Given the description of an element on the screen output the (x, y) to click on. 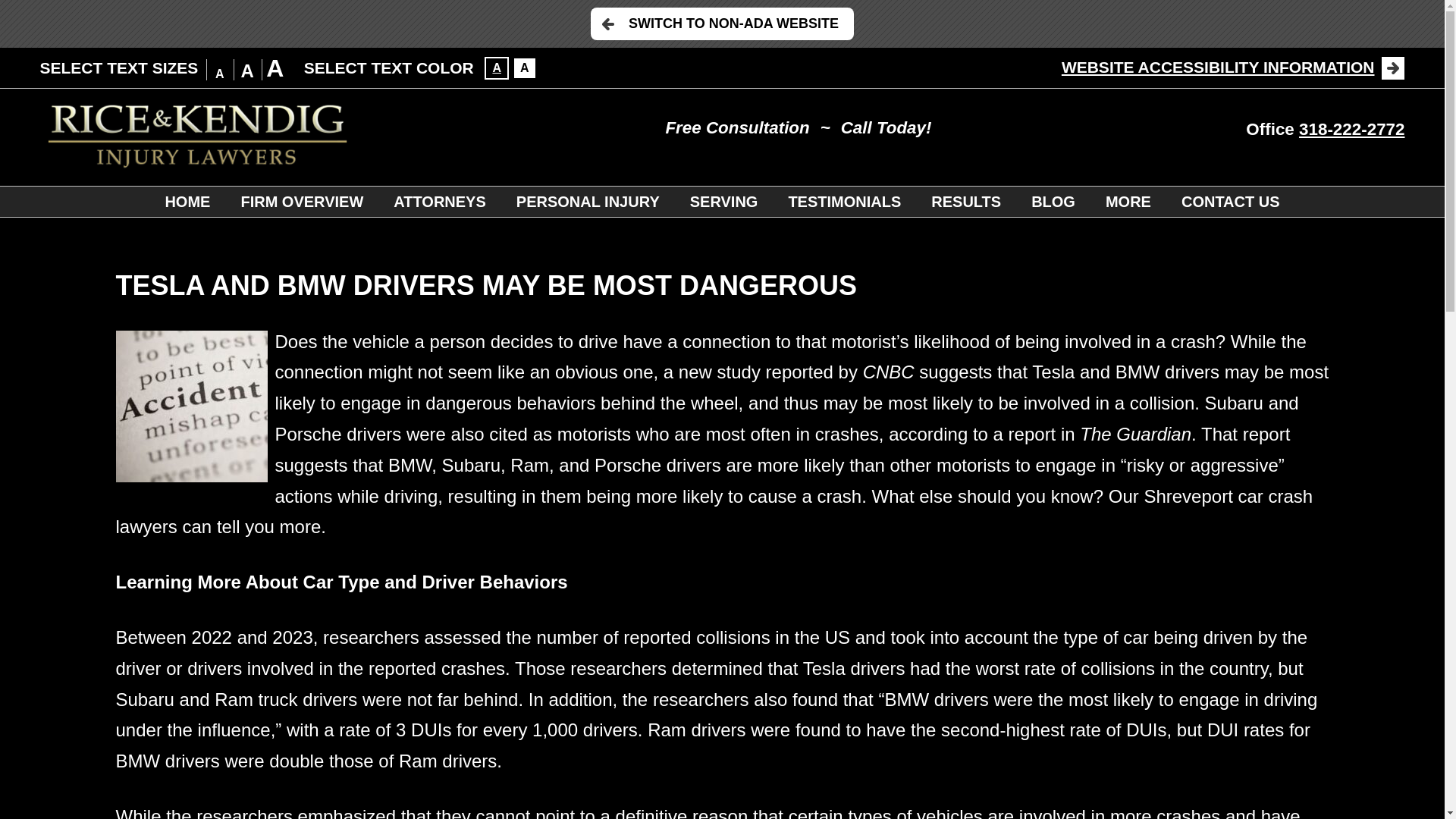
Accident7 (190, 406)
A (496, 67)
318-222-2772 (1351, 128)
WEBSITE ACCESSIBILITY INFORMATION (1233, 67)
FIRM OVERVIEW (301, 201)
Invert Colors (524, 67)
ATTORNEYS (439, 201)
Invert Colors (496, 67)
PERSONAL INJURY (587, 201)
A (524, 67)
